Given the description of an element on the screen output the (x, y) to click on. 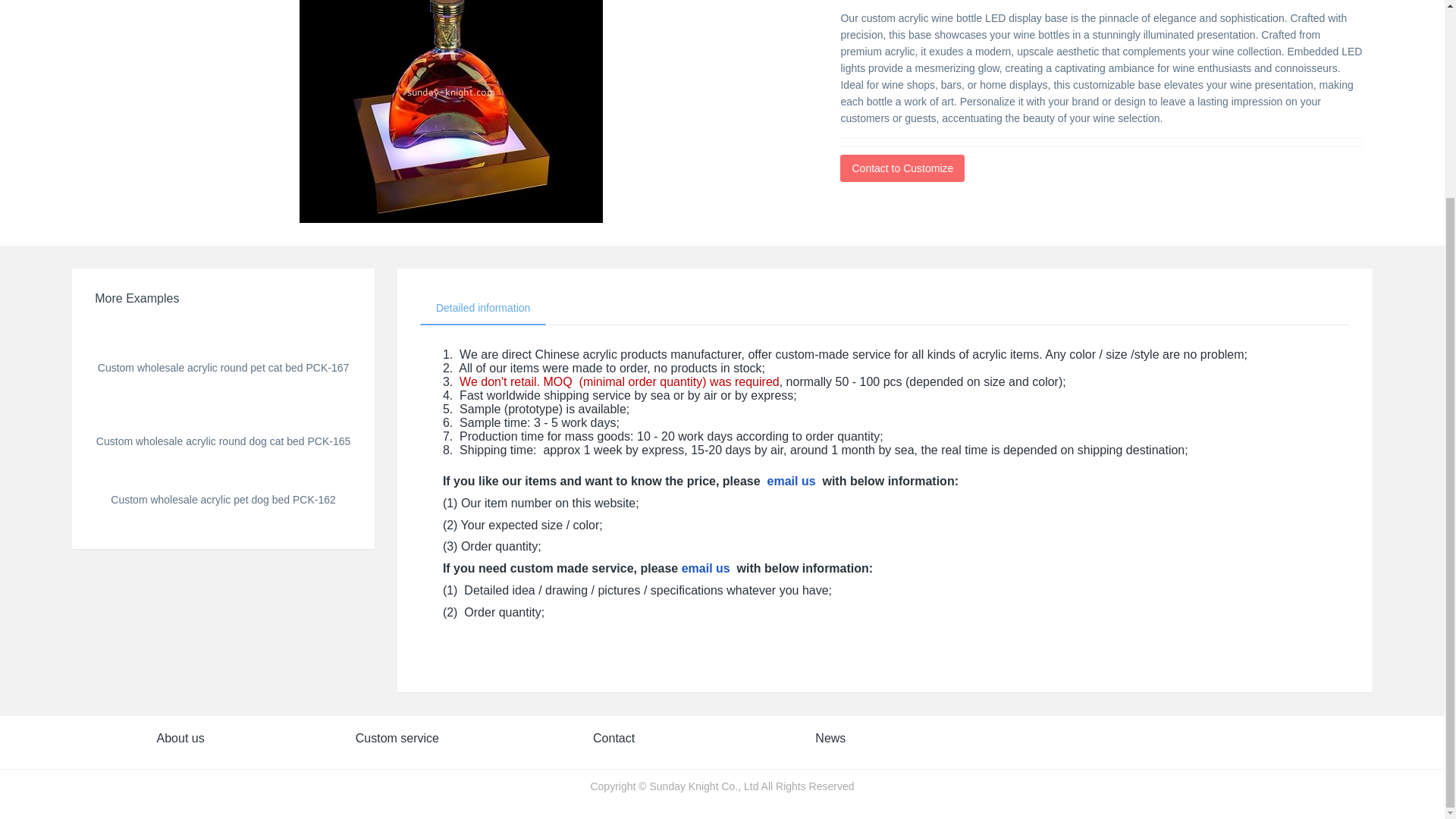
Detailed information (483, 308)
email us (705, 567)
Contact to Customize (901, 167)
email us (791, 481)
